Given the description of an element on the screen output the (x, y) to click on. 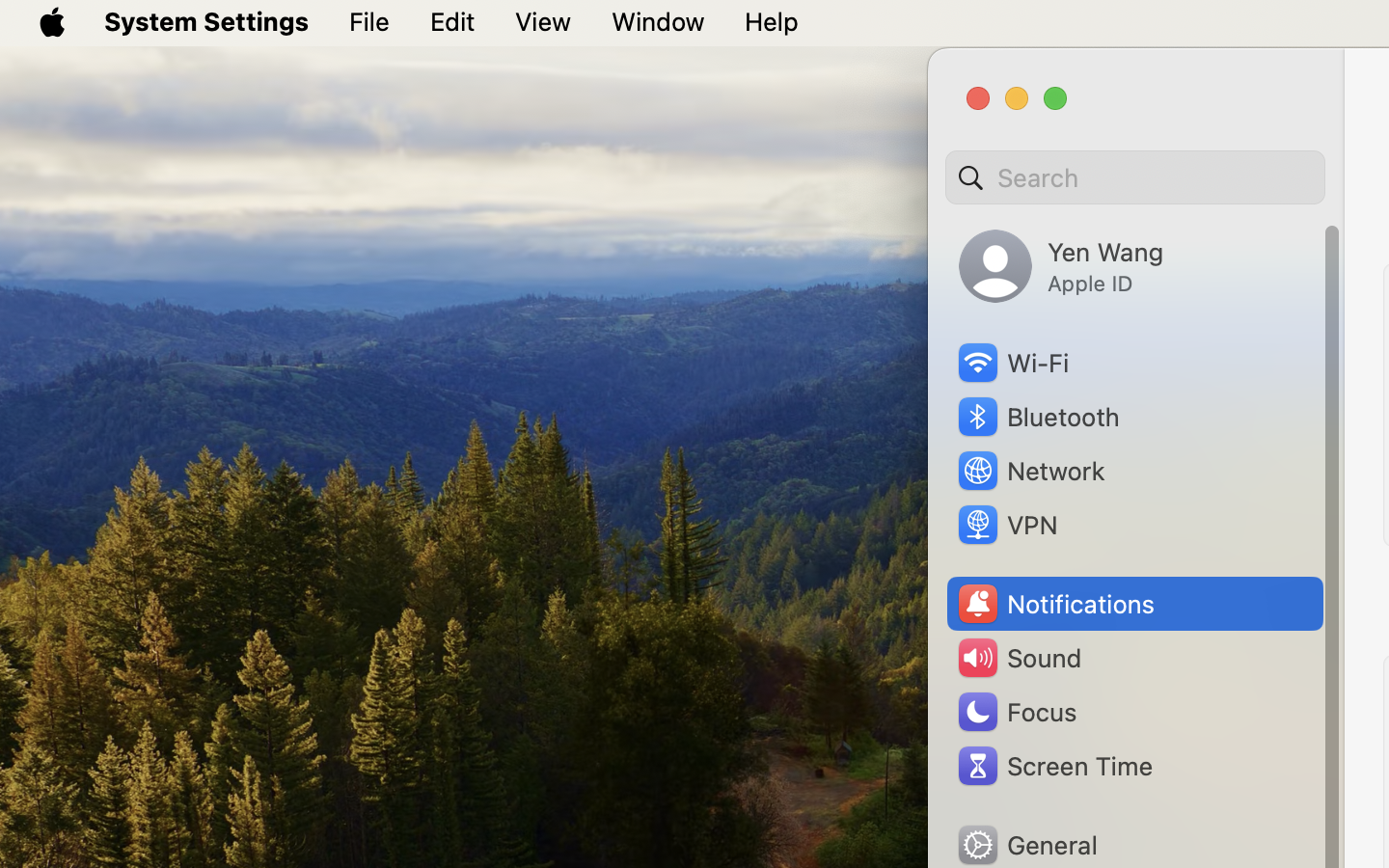
Wi‑Fi Element type: AXStaticText (1011, 362)
Yen Wang, Apple ID Element type: AXStaticText (1060, 265)
General Element type: AXStaticText (1025, 844)
Focus Element type: AXStaticText (1015, 711)
Screen Time Element type: AXStaticText (1053, 765)
